Given the description of an element on the screen output the (x, y) to click on. 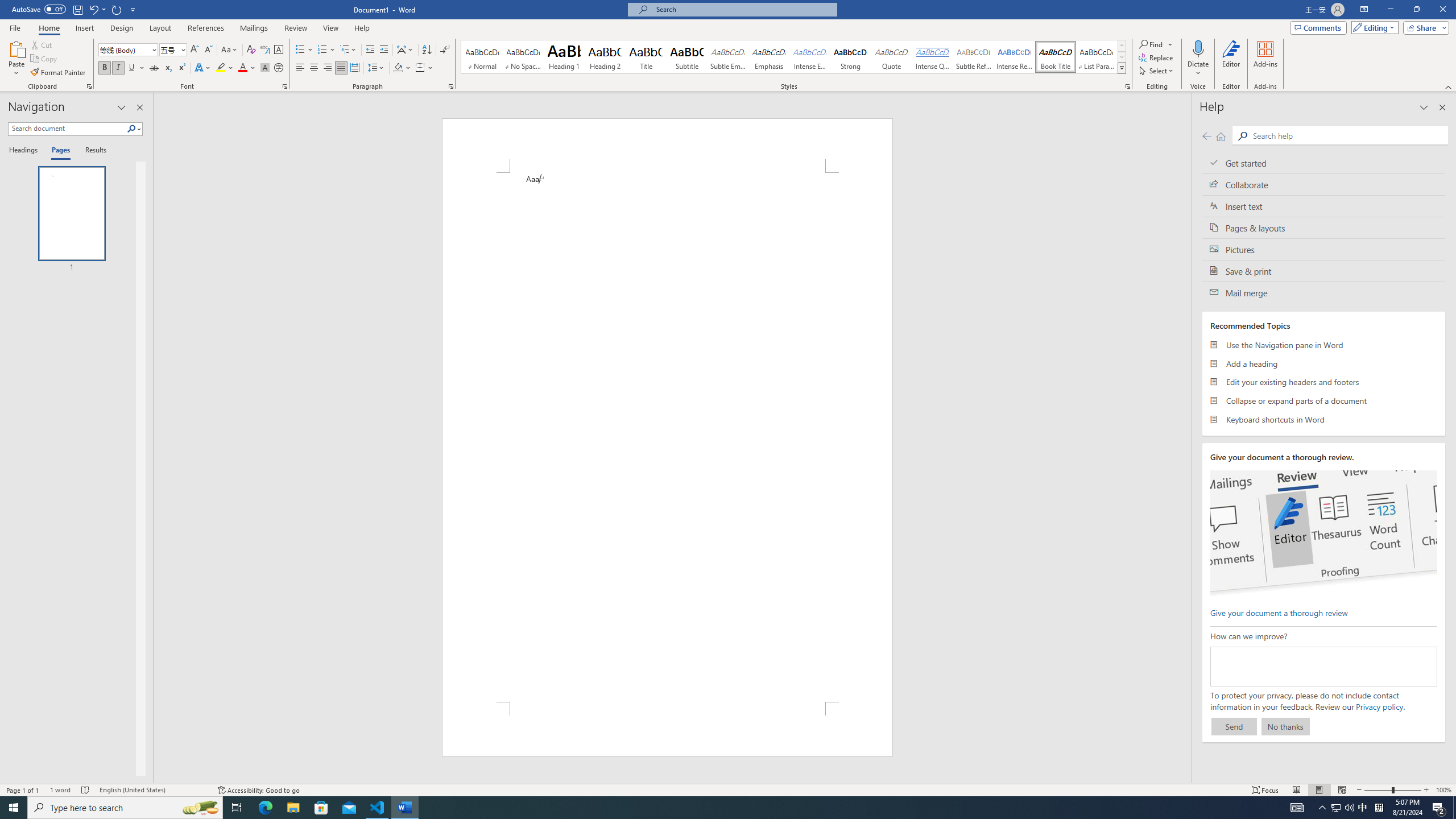
Collapse or expand parts of a document (1323, 400)
No thanks (1285, 726)
Use the Navigation pane in Word (1323, 344)
